Given the description of an element on the screen output the (x, y) to click on. 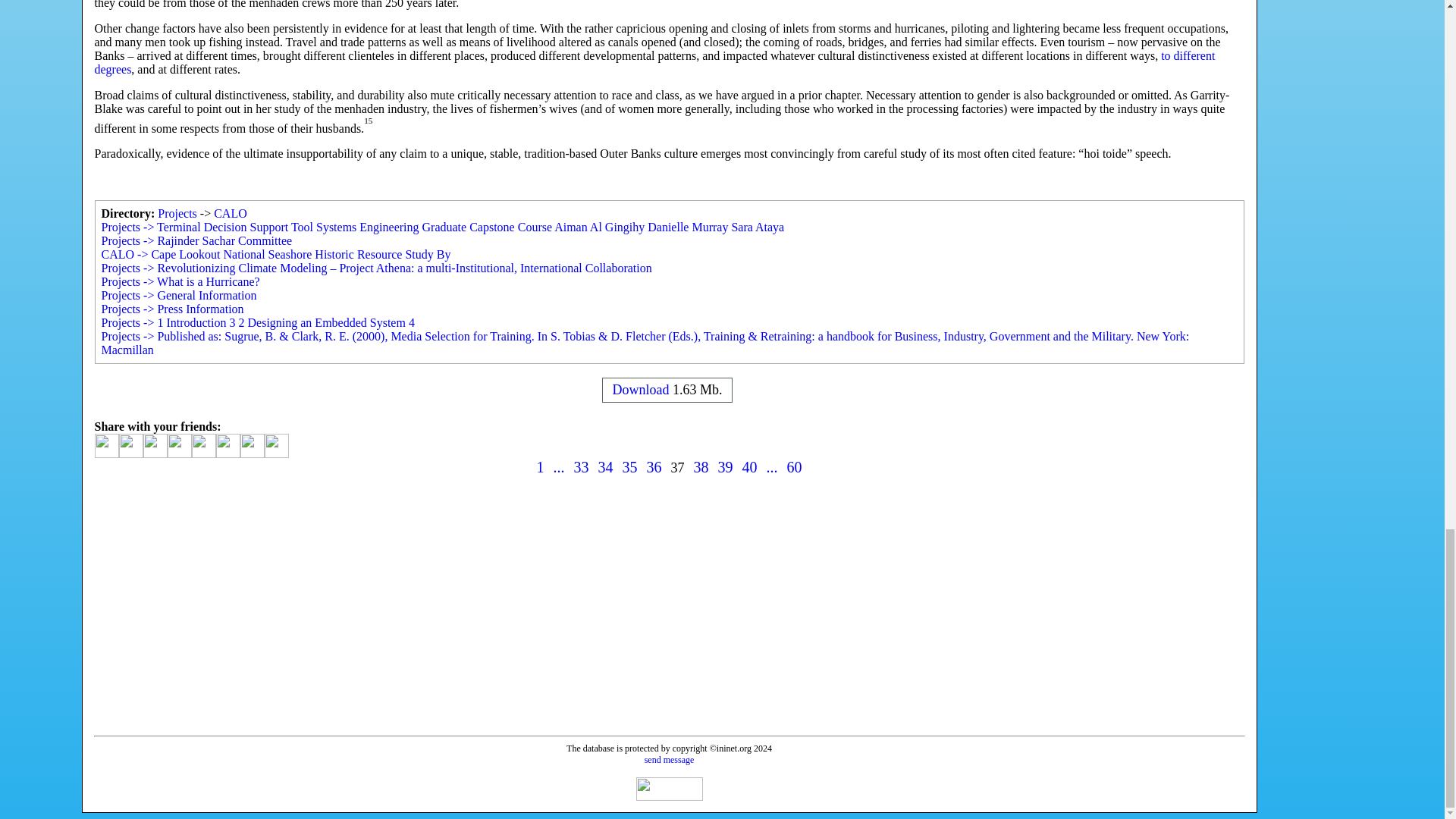
Projects (176, 213)
to different degrees (654, 62)
CALO (230, 213)
